Given the description of an element on the screen output the (x, y) to click on. 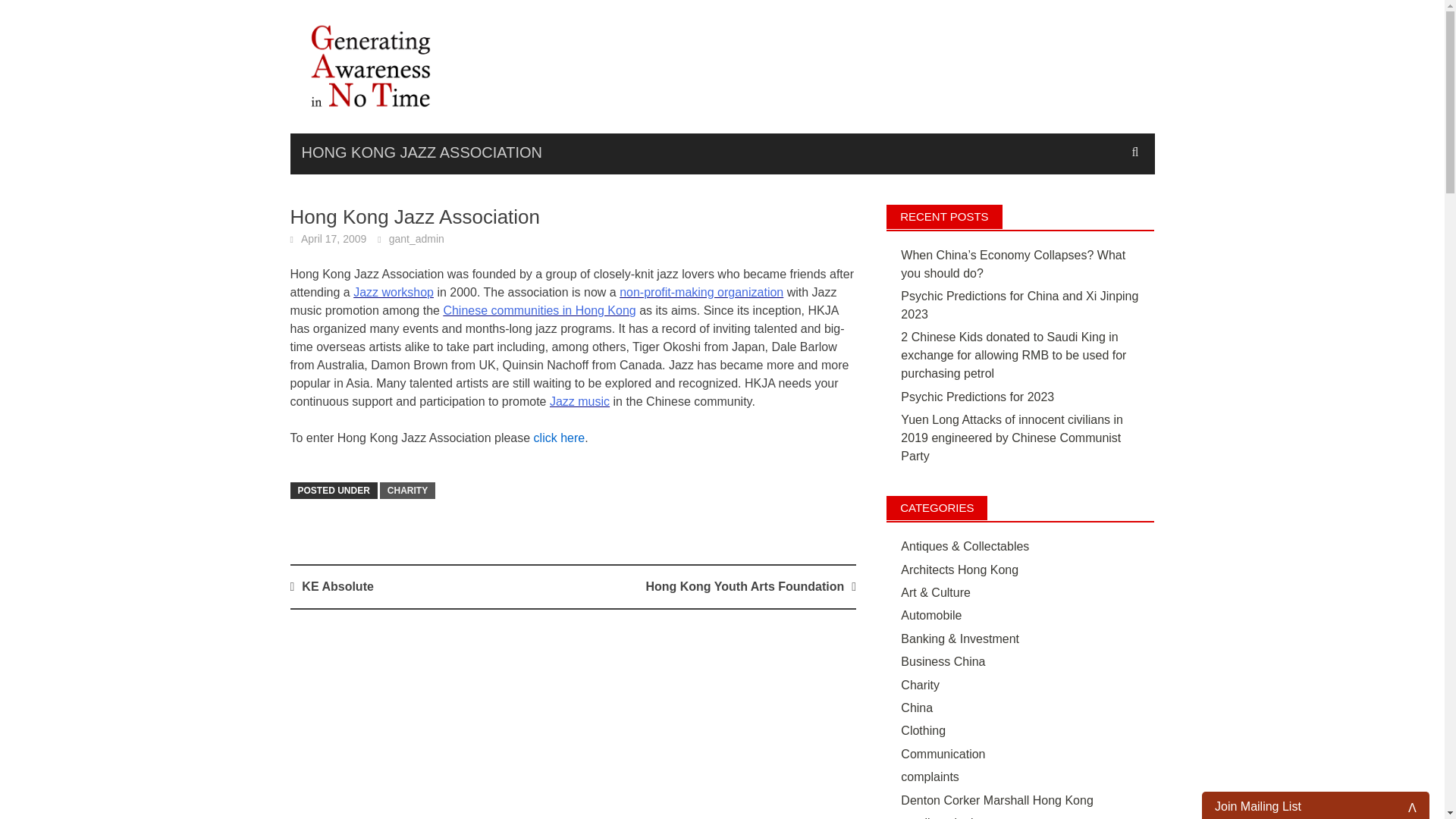
complaints (929, 776)
April 17, 2009 (333, 238)
non-profit-making organization (701, 291)
Psychic Predictions for 2023 (977, 396)
Communication (943, 753)
Psychic Predictions for China and Xi Jinping 2023 (1019, 305)
CHARITY (407, 490)
Business China (943, 661)
Charity (920, 684)
